Given the description of an element on the screen output the (x, y) to click on. 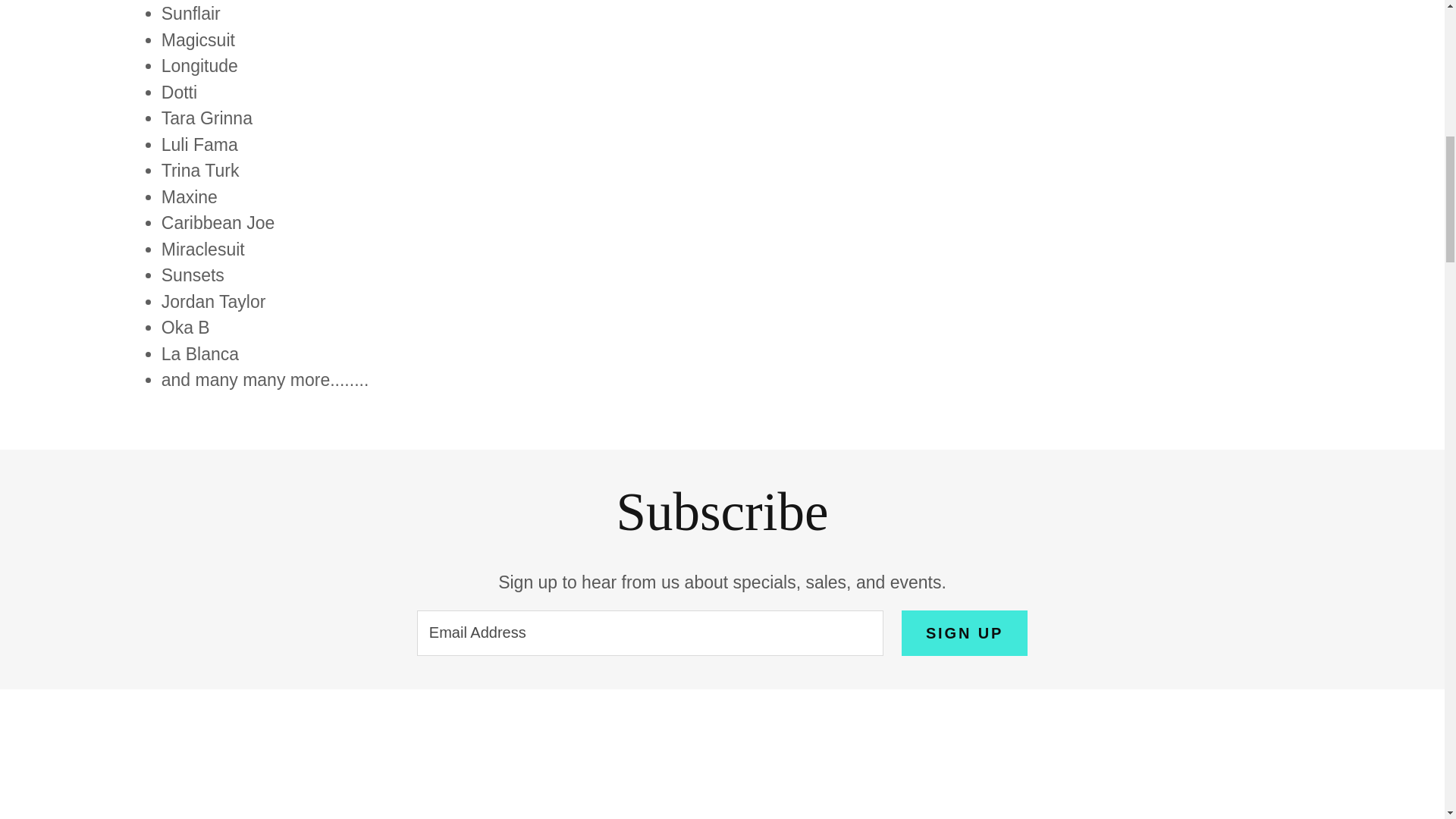
SIGN UP (964, 633)
